Given the description of an element on the screen output the (x, y) to click on. 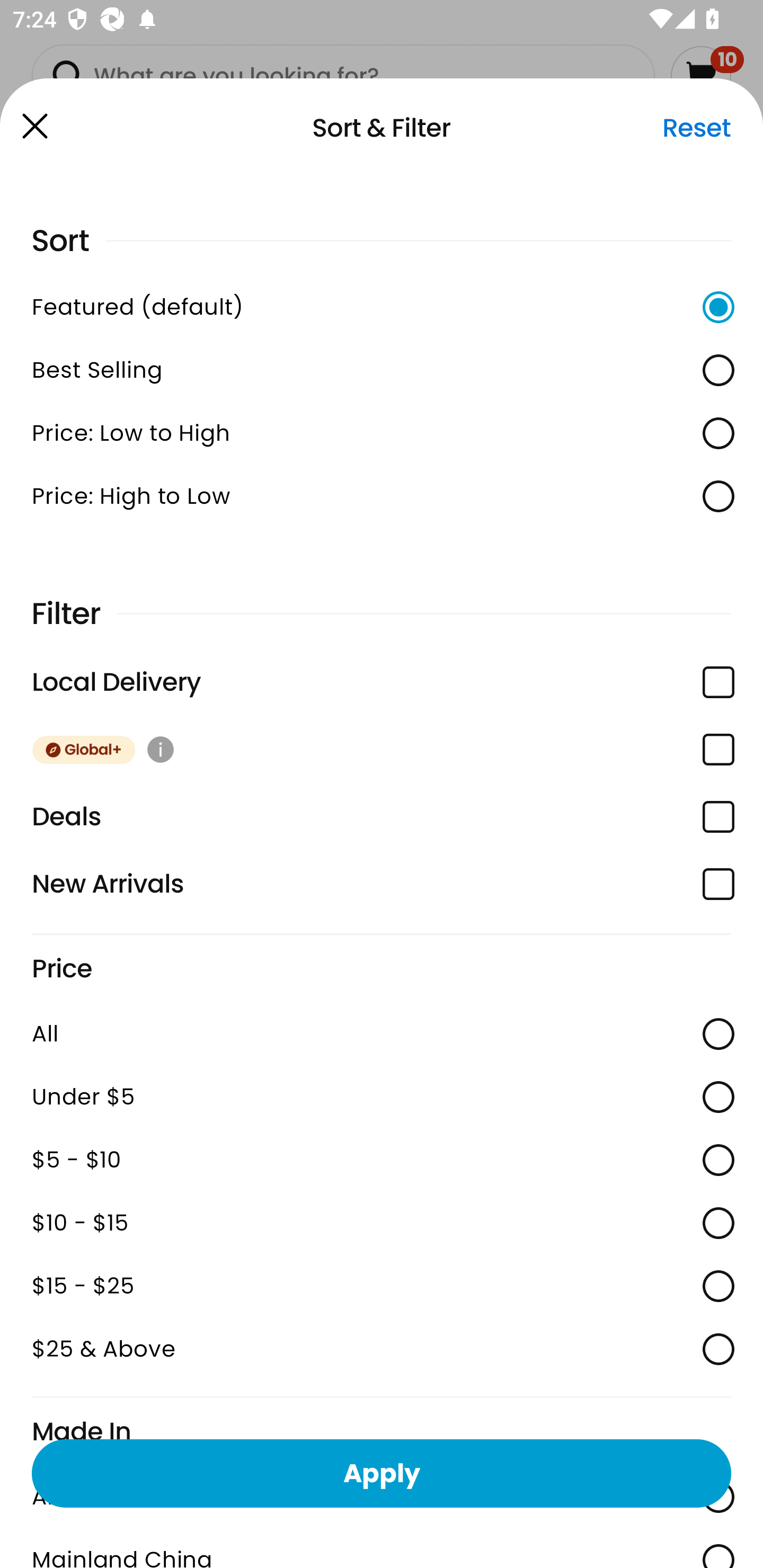
Reset (696, 127)
Apply (381, 1472)
